Given the description of an element on the screen output the (x, y) to click on. 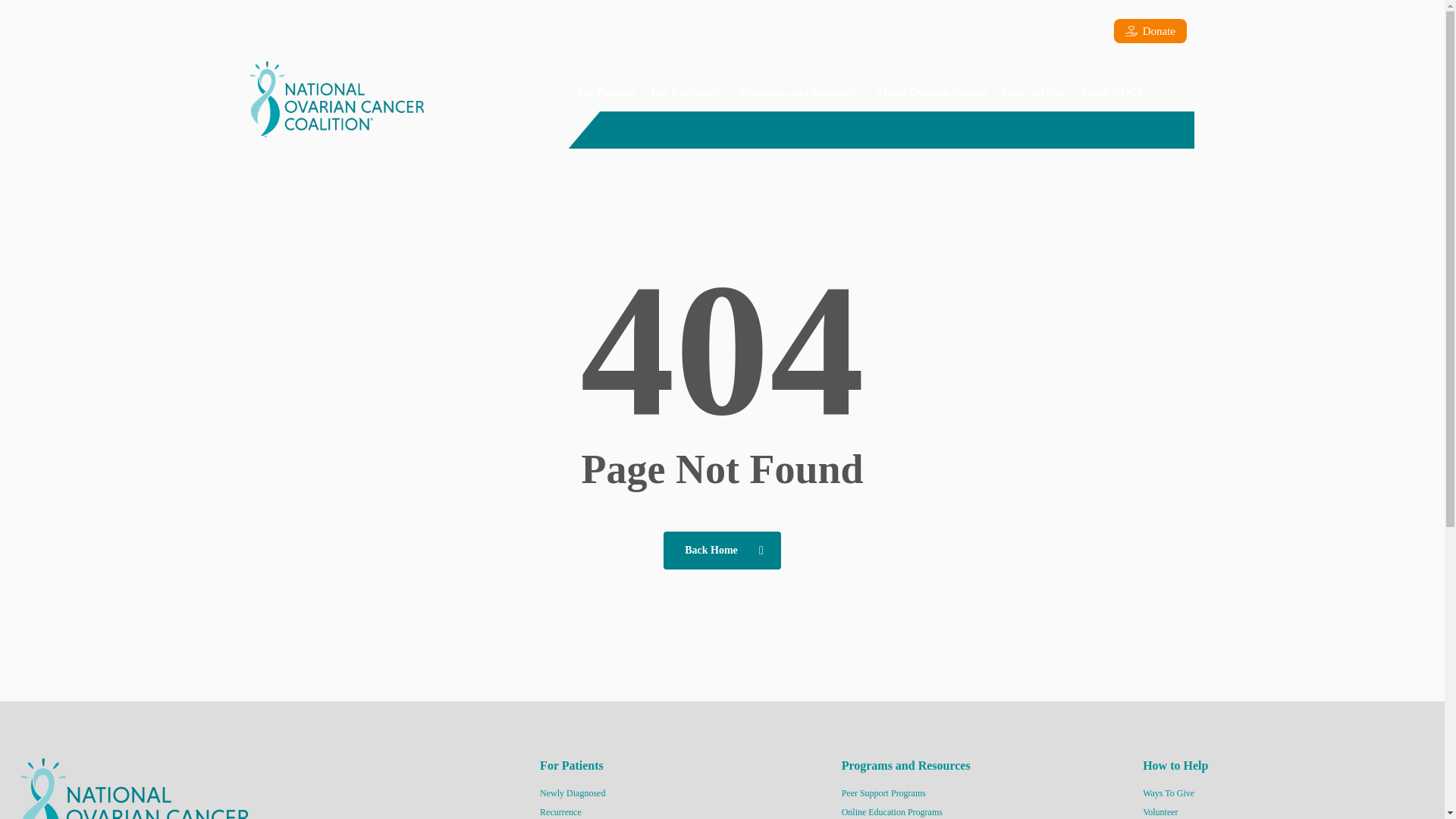
About Ovarian Cancer (931, 91)
How to Help (1032, 91)
Donate (1149, 30)
Programs and Resources (799, 91)
For Caregivers (687, 91)
For Patients (606, 91)
